Given the description of an element on the screen output the (x, y) to click on. 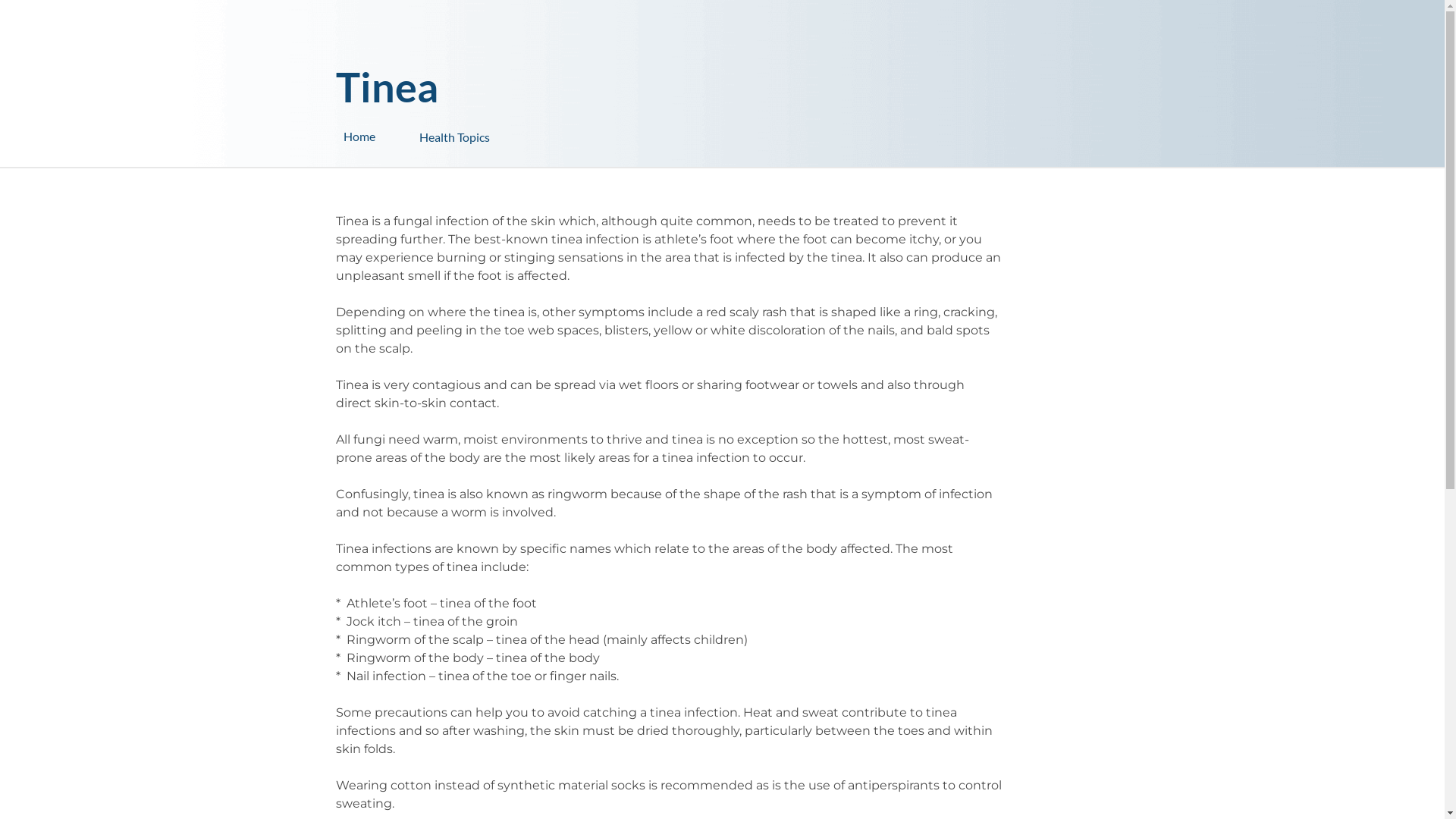
Health Topics Element type: text (494, 129)
Home Element type: text (380, 136)
